Given the description of an element on the screen output the (x, y) to click on. 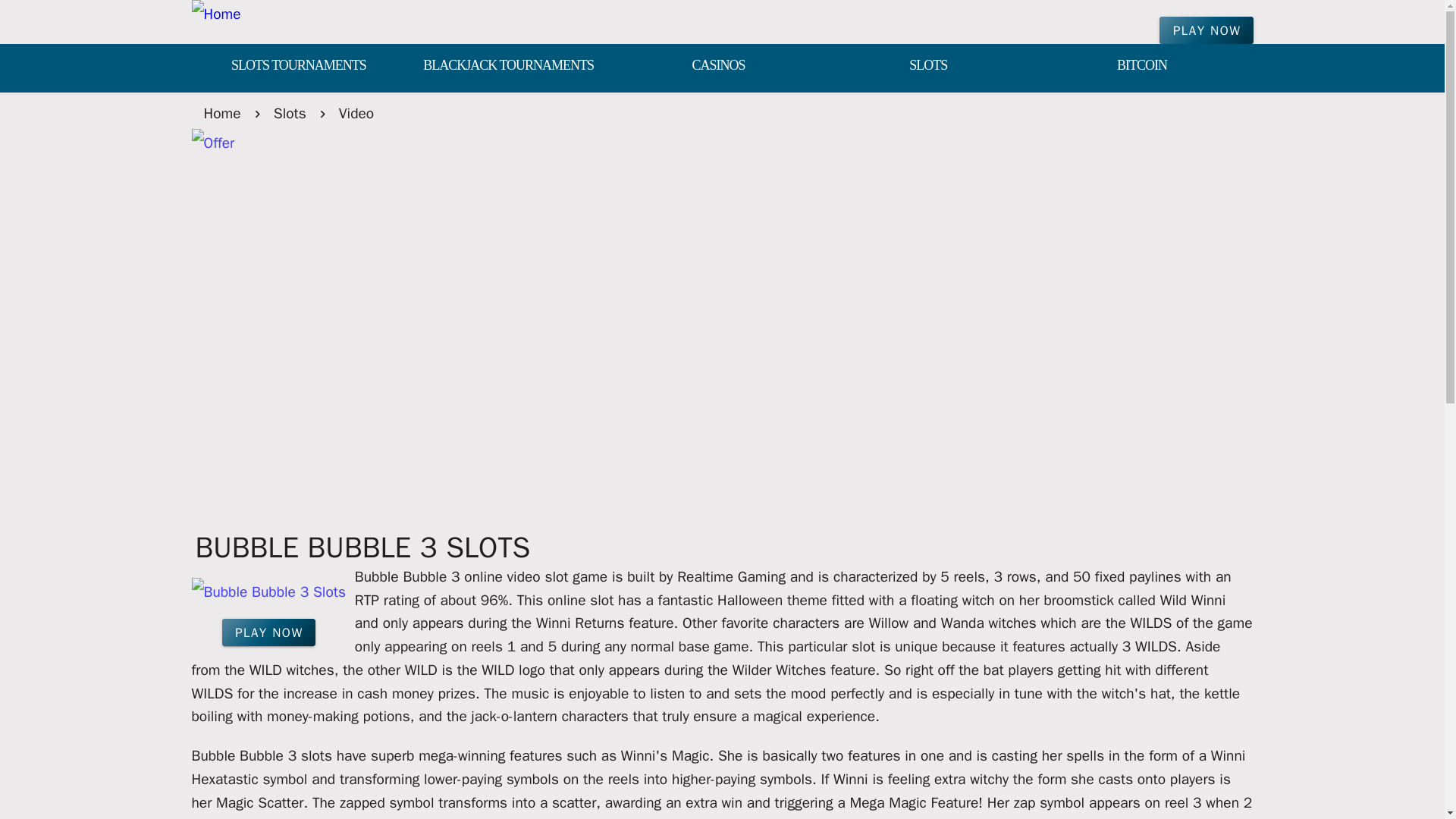
Slots (289, 113)
BLACKJACK TOURNAMENTS (508, 66)
CASINOS (718, 66)
BITCOIN (1141, 66)
PLAY NOW (1205, 30)
Video (356, 113)
SLOTS (928, 66)
Home (221, 113)
PLAY NOW (268, 632)
SLOTS TOURNAMENTS (297, 66)
